Given the description of an element on the screen output the (x, y) to click on. 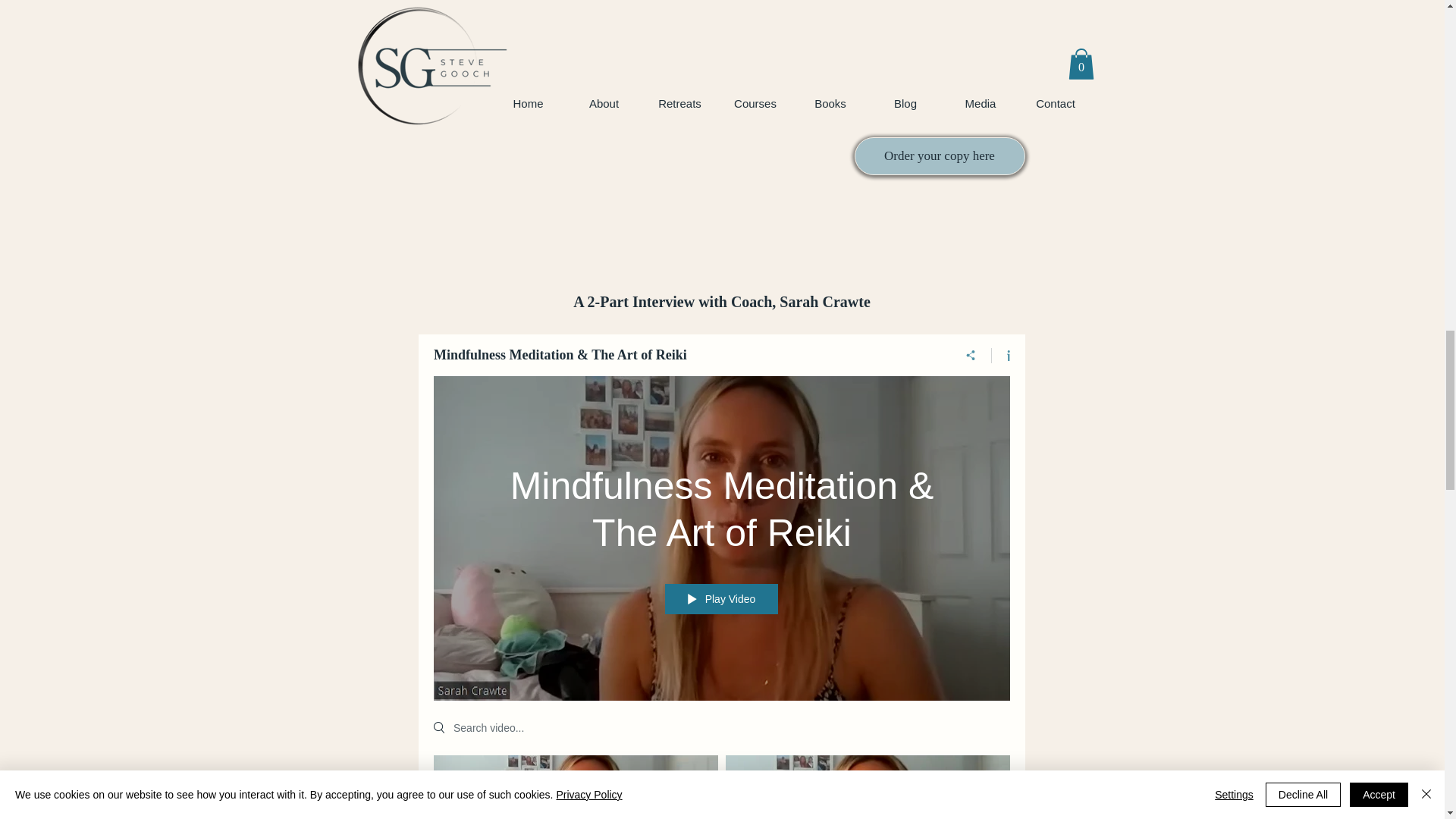
Order your copy here (939, 156)
Play Video (720, 598)
